Given the description of an element on the screen output the (x, y) to click on. 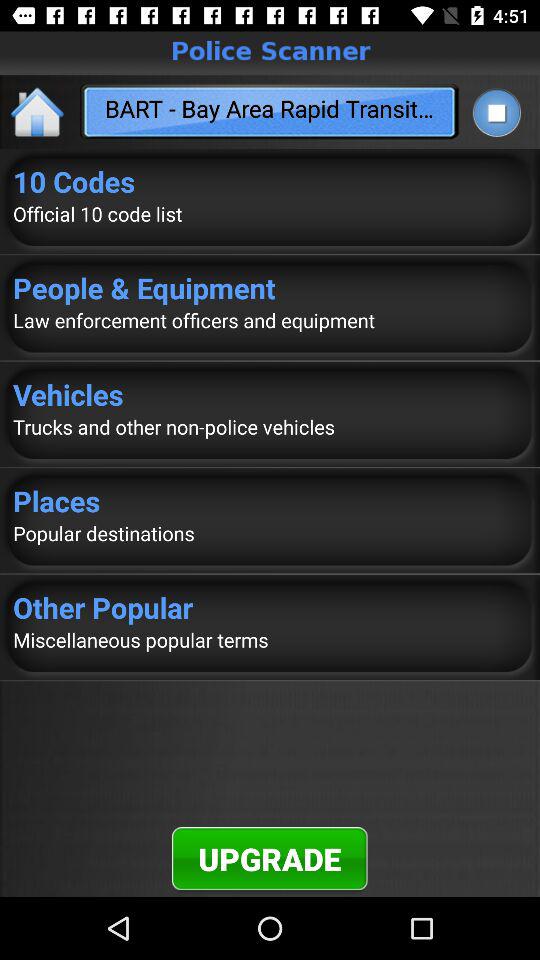
scroll to law enforcement officers (269, 320)
